Given the description of an element on the screen output the (x, y) to click on. 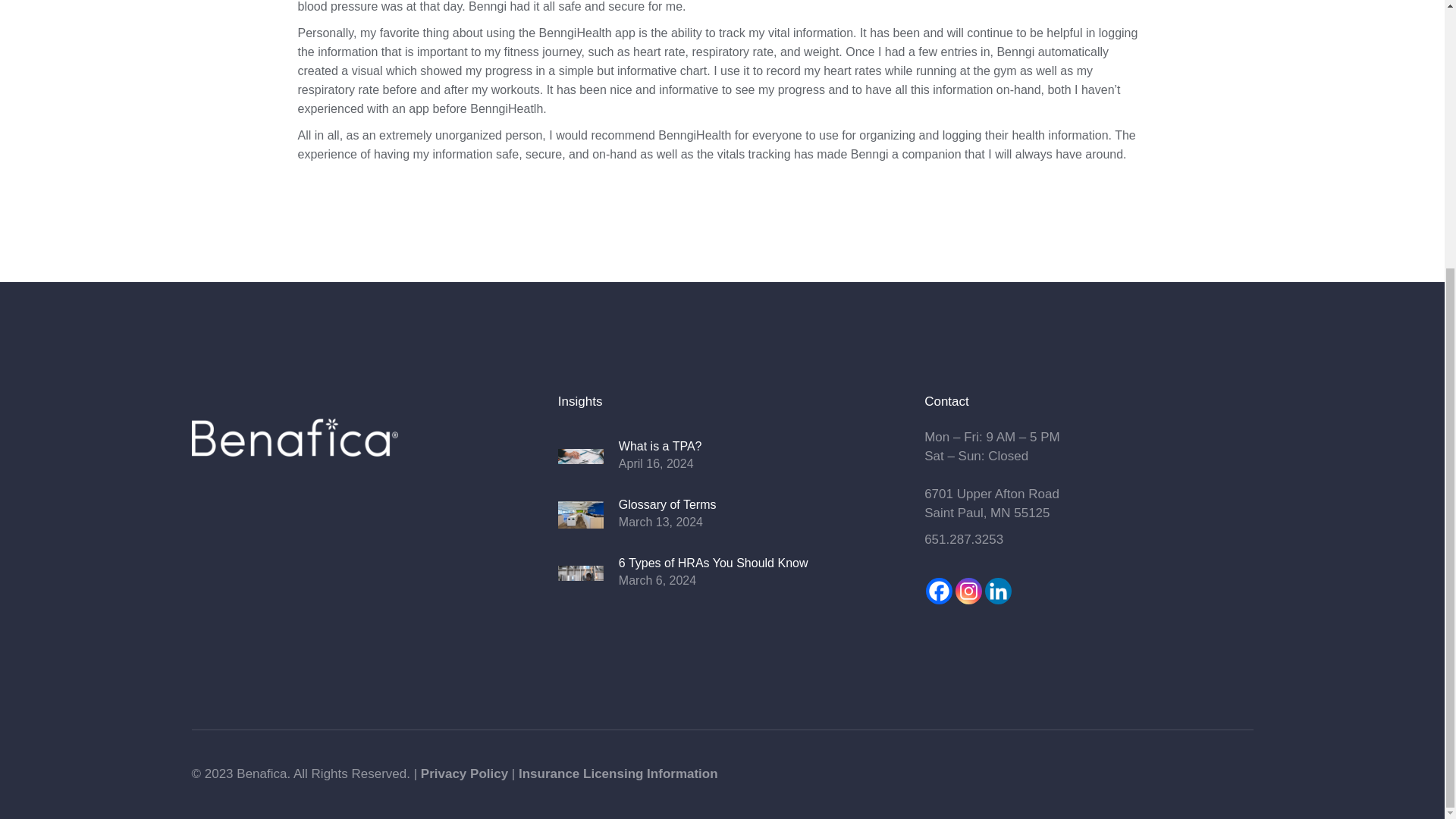
Facebook (939, 591)
Instagram (968, 591)
Linkedin Company (998, 591)
